Given the description of an element on the screen output the (x, y) to click on. 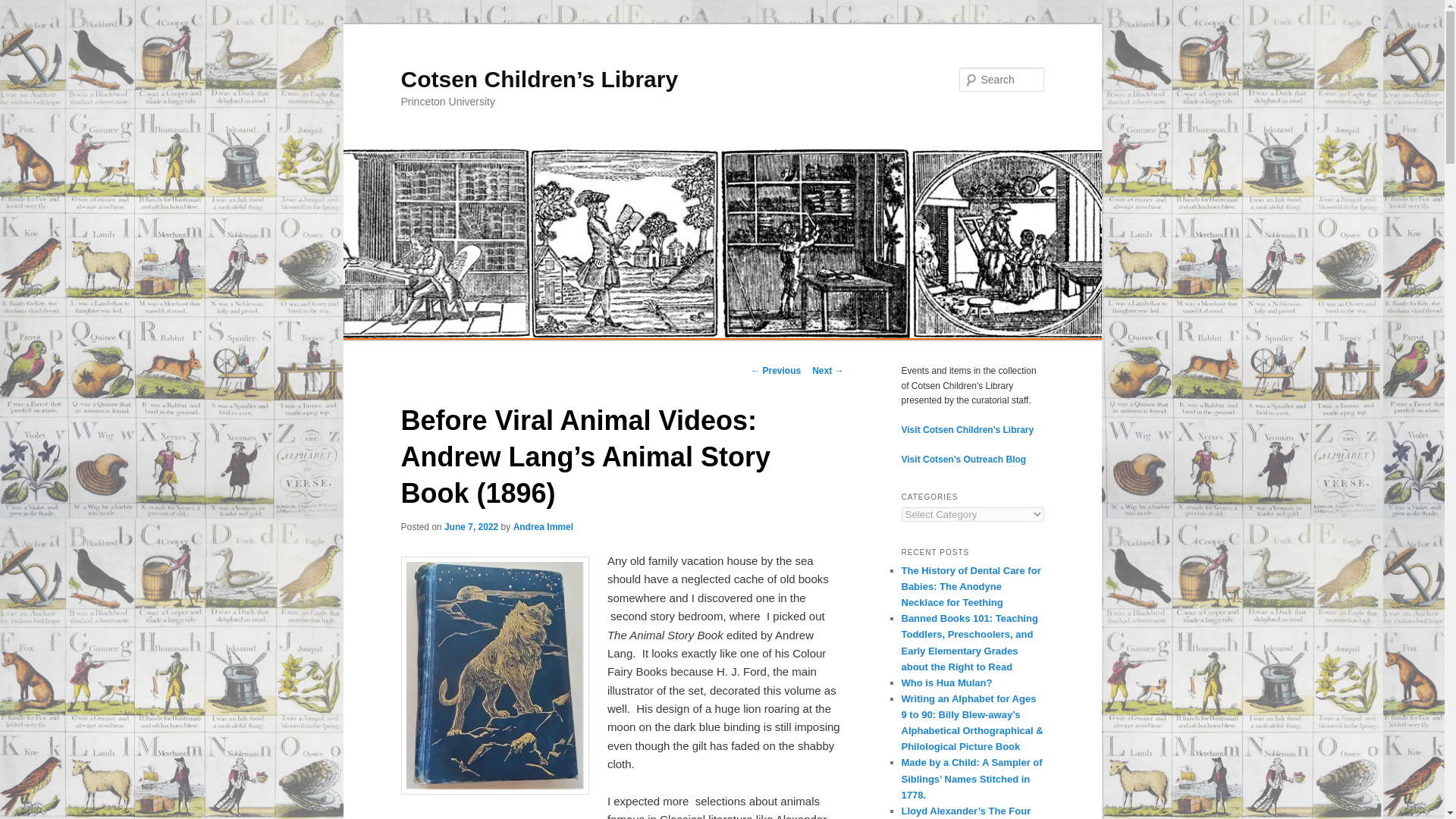
View all posts by Andrea Immel (543, 526)
Andrea Immel (543, 526)
11:21 am (470, 526)
June 7, 2022 (470, 526)
Search (24, 8)
